Given the description of an element on the screen output the (x, y) to click on. 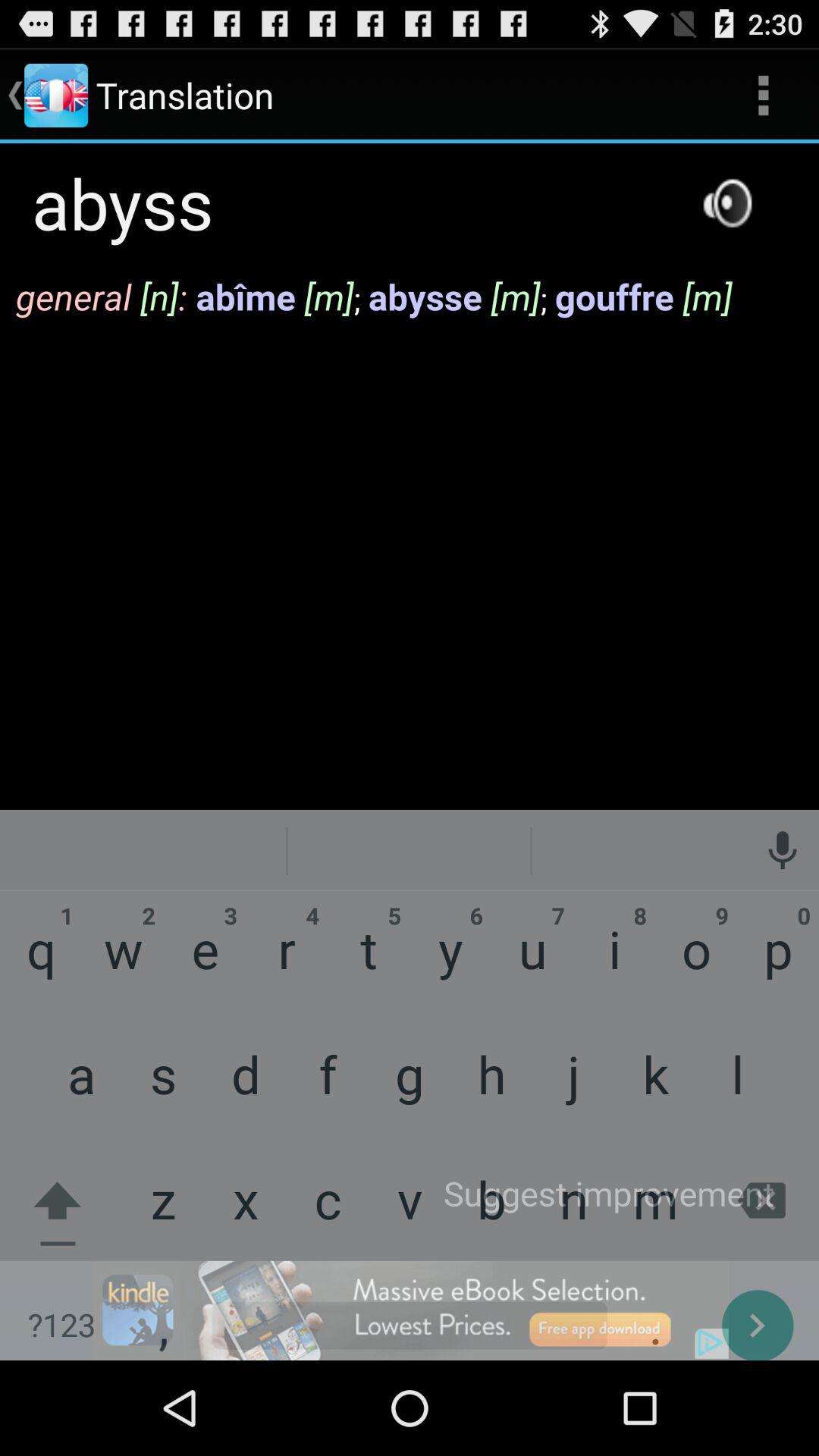
speaker (727, 202)
